Given the description of an element on the screen output the (x, y) to click on. 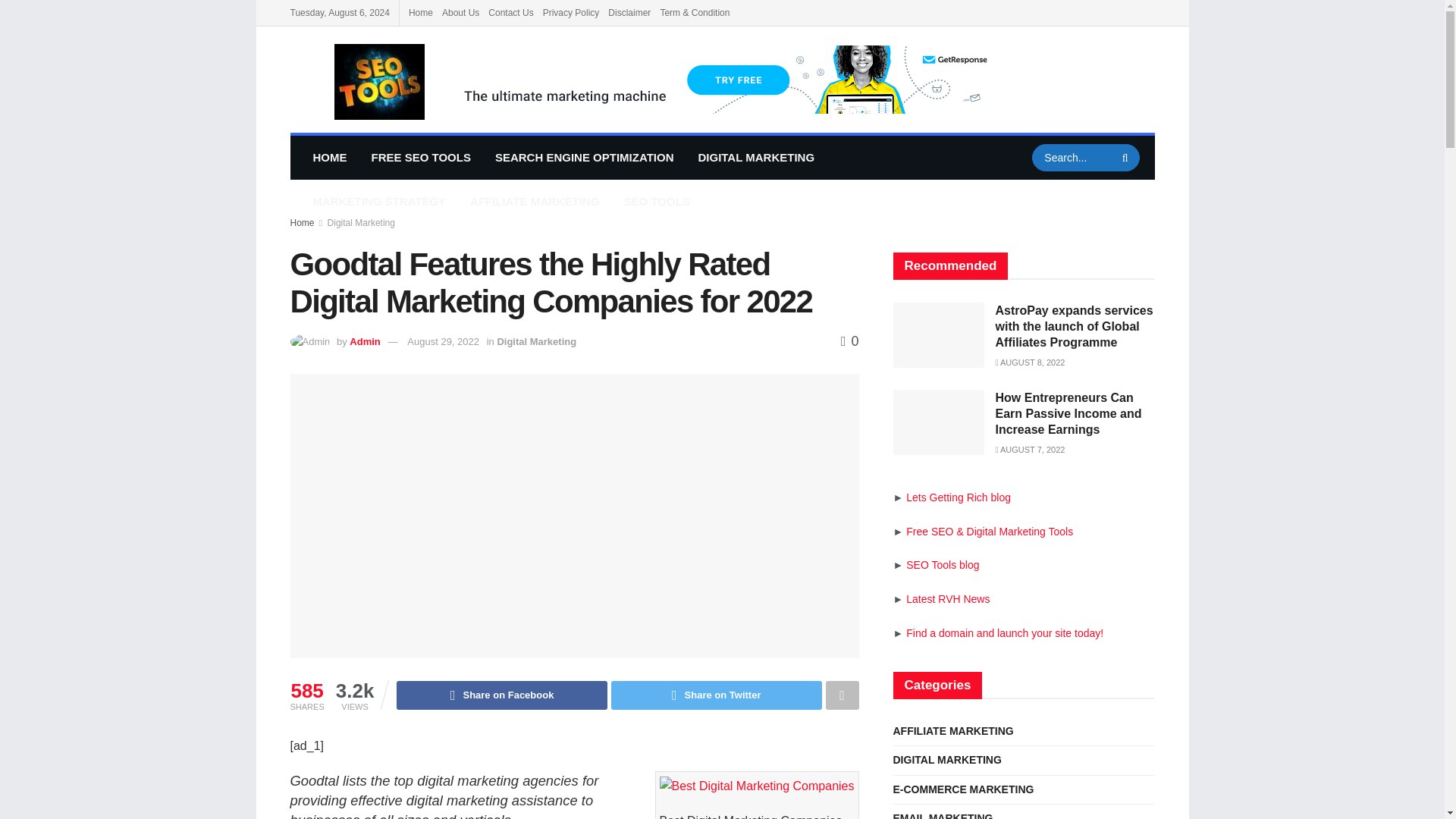
Digital Marketing (536, 341)
SEO TOOLS (656, 201)
AFFILIATE MARKETING (534, 201)
About Us (460, 12)
Home (301, 222)
Admin (364, 341)
SEARCH ENGINE OPTIMIZATION (584, 157)
Contact Us (509, 12)
Privacy Policy (571, 12)
FREE SEO TOOLS (421, 157)
